Given the description of an element on the screen output the (x, y) to click on. 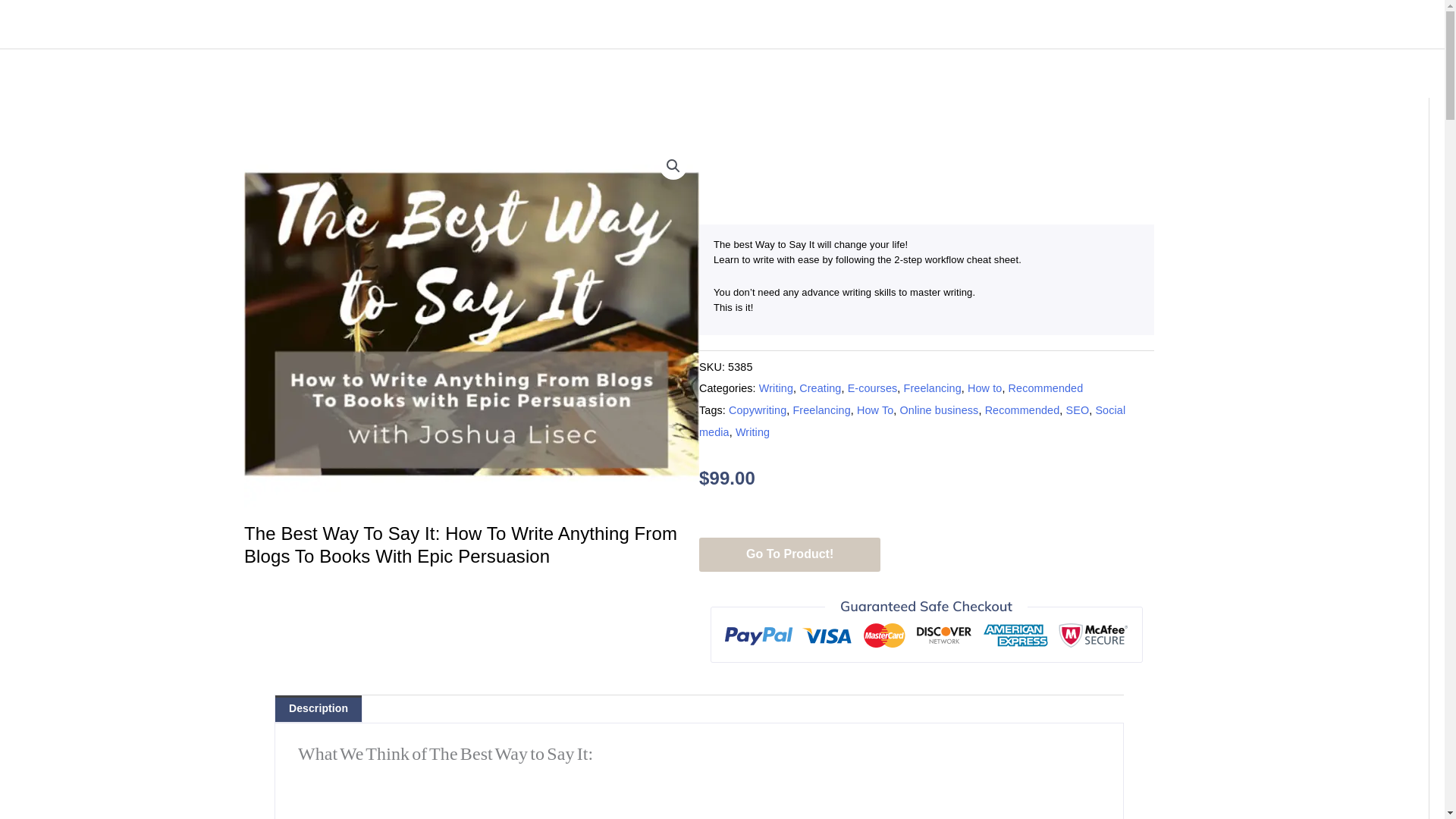
Recommended (1022, 410)
Writing (752, 431)
E-courses (872, 387)
Freelancing (932, 387)
Creating (820, 387)
Social media (911, 421)
How To (875, 410)
Copywriting (757, 410)
SEO (1077, 410)
Freelancing (821, 410)
Description (318, 708)
Writing (775, 387)
How to (984, 387)
Recommended (1046, 387)
